Given the description of an element on the screen output the (x, y) to click on. 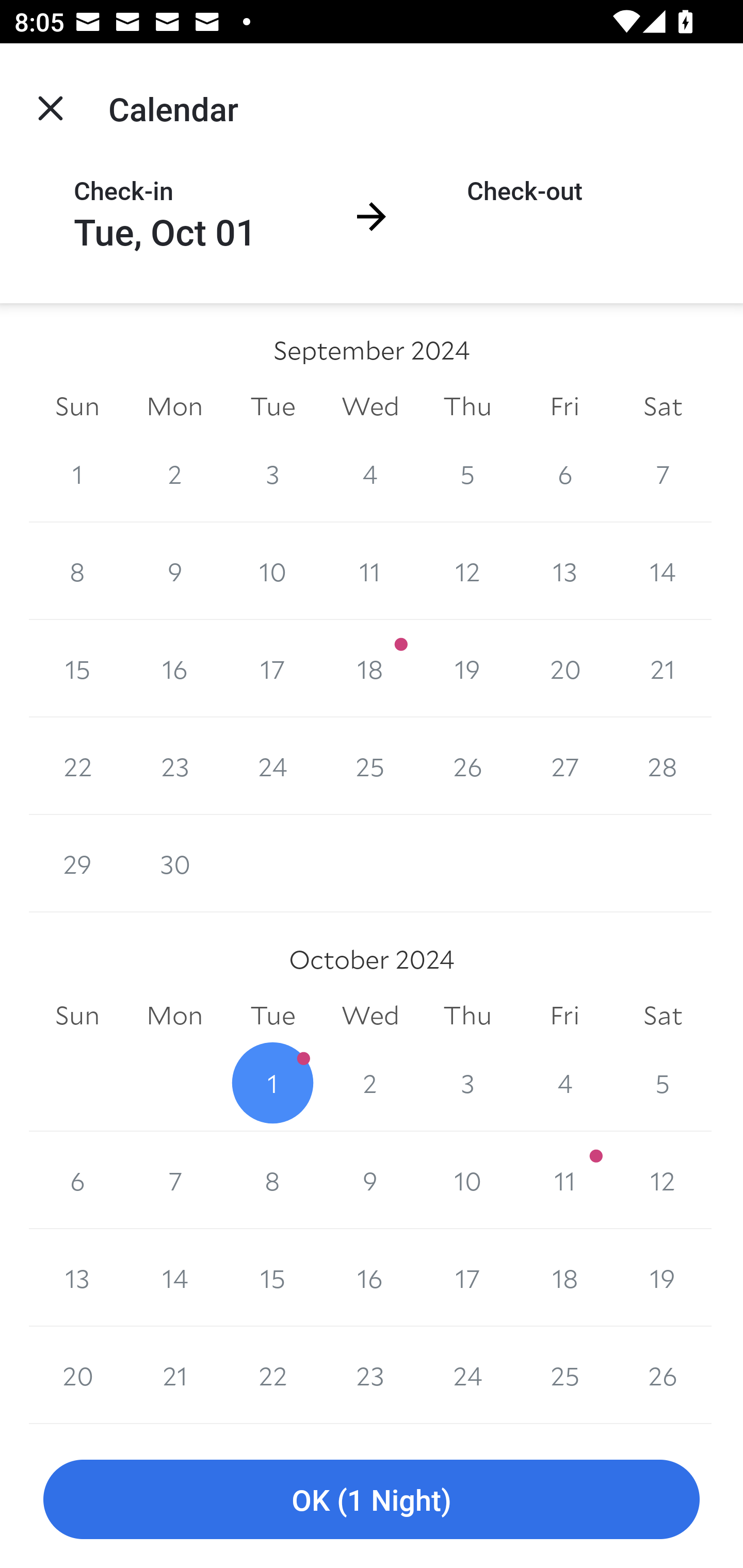
Sun (77, 405)
Mon (174, 405)
Tue (272, 405)
Wed (370, 405)
Thu (467, 405)
Fri (564, 405)
Sat (662, 405)
1 1 September 2024 (77, 473)
2 2 September 2024 (174, 473)
3 3 September 2024 (272, 473)
4 4 September 2024 (370, 473)
5 5 September 2024 (467, 473)
6 6 September 2024 (564, 473)
7 7 September 2024 (662, 473)
8 8 September 2024 (77, 570)
9 9 September 2024 (174, 570)
10 10 September 2024 (272, 570)
11 11 September 2024 (370, 570)
12 12 September 2024 (467, 570)
13 13 September 2024 (564, 570)
14 14 September 2024 (662, 570)
15 15 September 2024 (77, 668)
16 16 September 2024 (174, 668)
17 17 September 2024 (272, 668)
18 18 September 2024 (370, 668)
19 19 September 2024 (467, 668)
20 20 September 2024 (564, 668)
21 21 September 2024 (662, 668)
22 22 September 2024 (77, 766)
23 23 September 2024 (174, 766)
24 24 September 2024 (272, 766)
25 25 September 2024 (370, 766)
26 26 September 2024 (467, 766)
27 27 September 2024 (564, 766)
28 28 September 2024 (662, 766)
29 29 September 2024 (77, 863)
30 30 September 2024 (174, 863)
Sun (77, 1015)
Mon (174, 1015)
Tue (272, 1015)
Wed (370, 1015)
Thu (467, 1015)
Fri (564, 1015)
Sat (662, 1015)
1 1 October 2024 (272, 1083)
2 2 October 2024 (370, 1083)
3 3 October 2024 (467, 1083)
4 4 October 2024 (564, 1083)
5 5 October 2024 (662, 1083)
6 6 October 2024 (77, 1180)
7 7 October 2024 (174, 1180)
8 8 October 2024 (272, 1180)
9 9 October 2024 (370, 1180)
10 10 October 2024 (467, 1180)
11 11 October 2024 (564, 1180)
12 12 October 2024 (662, 1180)
13 13 October 2024 (77, 1277)
14 14 October 2024 (174, 1277)
15 15 October 2024 (272, 1277)
16 16 October 2024 (370, 1277)
17 17 October 2024 (467, 1277)
18 18 October 2024 (564, 1277)
19 19 October 2024 (662, 1277)
20 20 October 2024 (77, 1374)
21 21 October 2024 (174, 1374)
22 22 October 2024 (272, 1374)
23 23 October 2024 (370, 1374)
24 24 October 2024 (467, 1374)
25 25 October 2024 (564, 1374)
26 26 October 2024 (662, 1374)
OK (1 Night) (371, 1499)
